Given the description of an element on the screen output the (x, y) to click on. 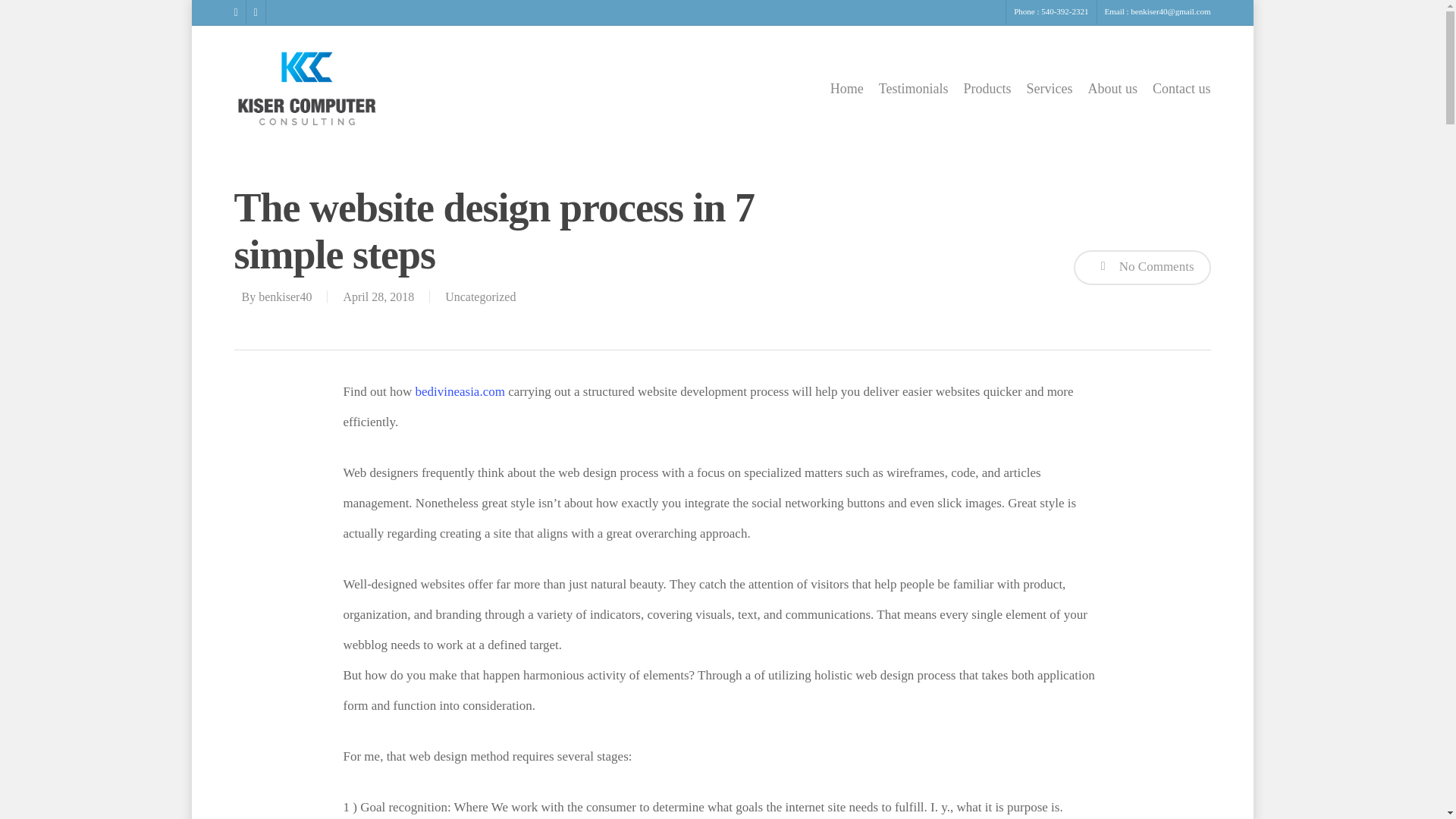
Testimonials (914, 88)
Home (846, 88)
Products (986, 88)
Posts by benkiser40 (285, 296)
Uncategorized (480, 296)
No Comments (1142, 267)
About us (1112, 88)
benkiser40 (285, 296)
Phone : 540-392-2321 (1051, 11)
Contact us (1182, 88)
